Given the description of an element on the screen output the (x, y) to click on. 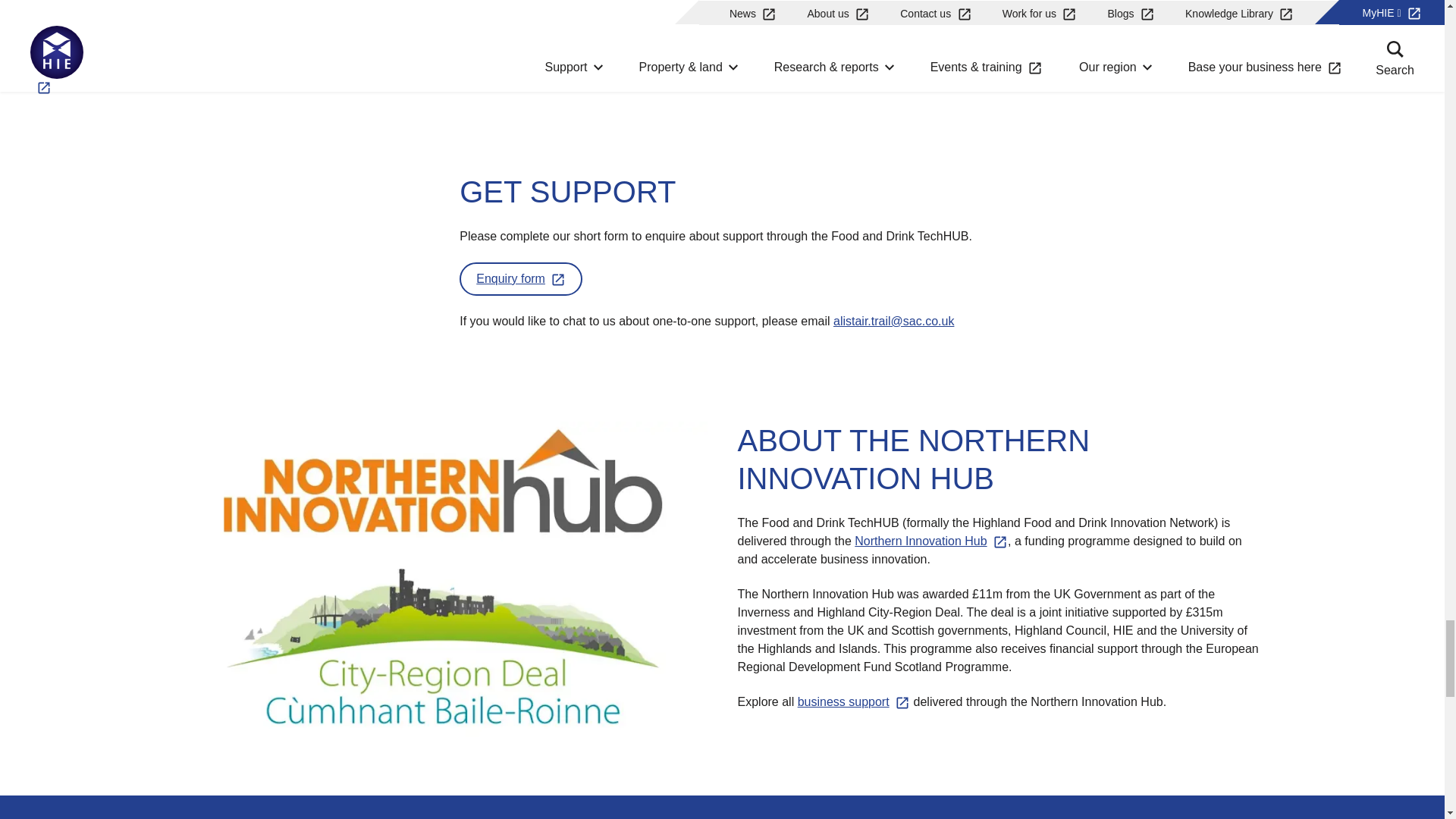
Northern Innovation Hub (930, 541)
Food and Drink TechHUB enquiry form (521, 279)
Northern Innovation Hub (853, 701)
